Given the description of an element on the screen output the (x, y) to click on. 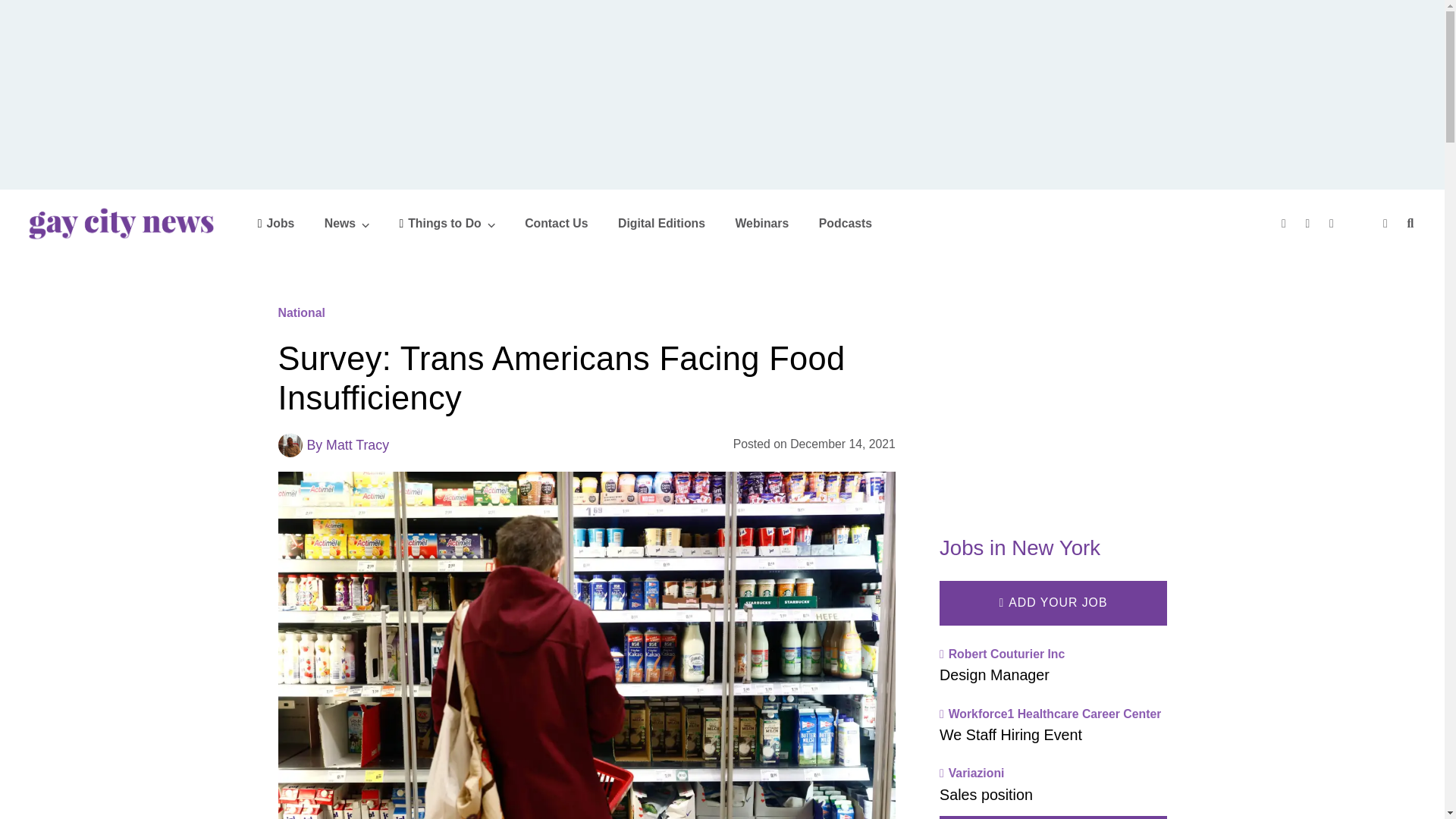
Digital Editions (660, 223)
Podcasts (845, 223)
Things to Do (446, 223)
News (346, 223)
Jobs (276, 223)
Posts by Matt Tracy (357, 444)
Webinars (762, 223)
Contact Us (556, 223)
